Given the description of an element on the screen output the (x, y) to click on. 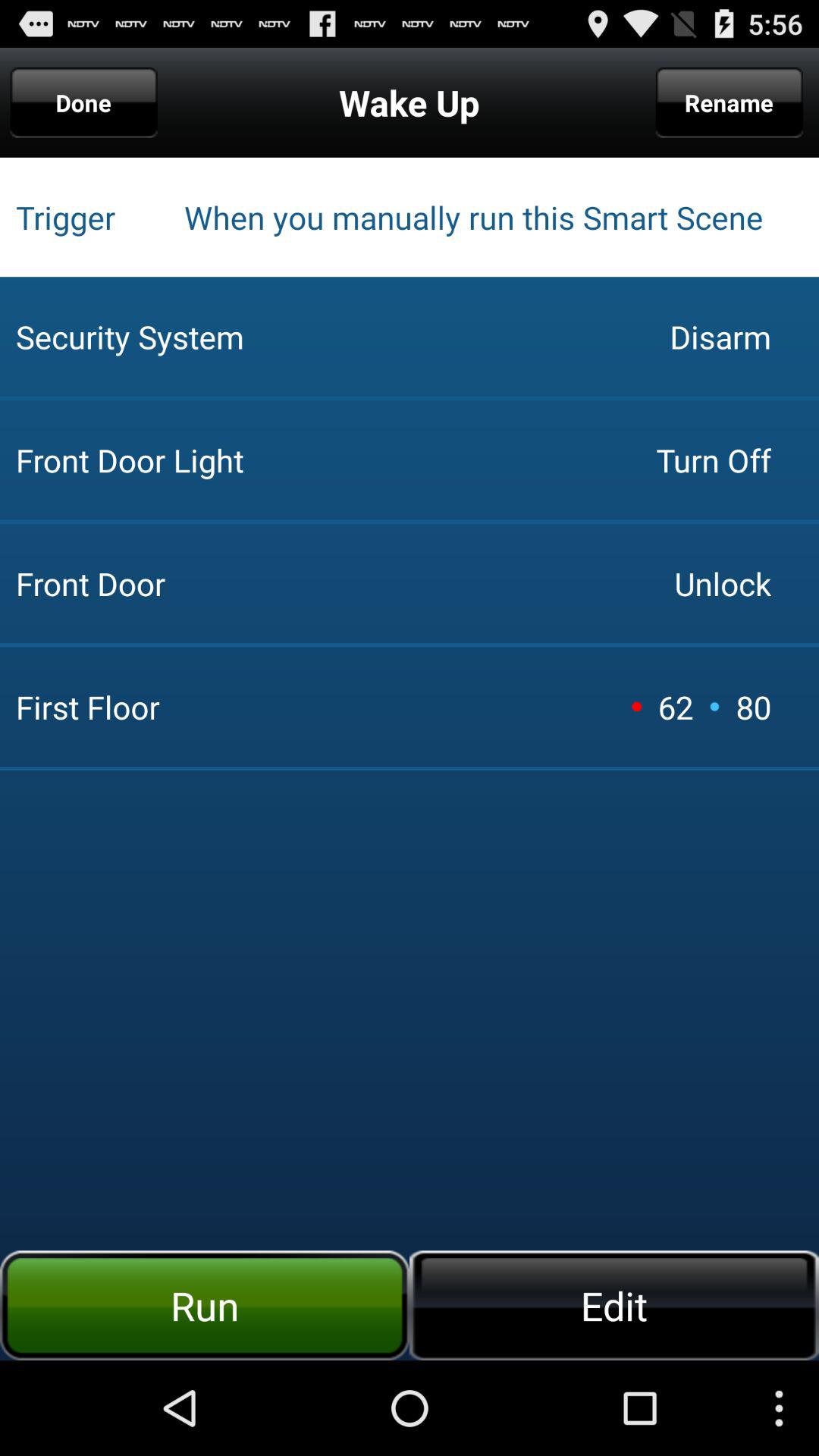
turn on icon above edit button (714, 706)
